Given the description of an element on the screen output the (x, y) to click on. 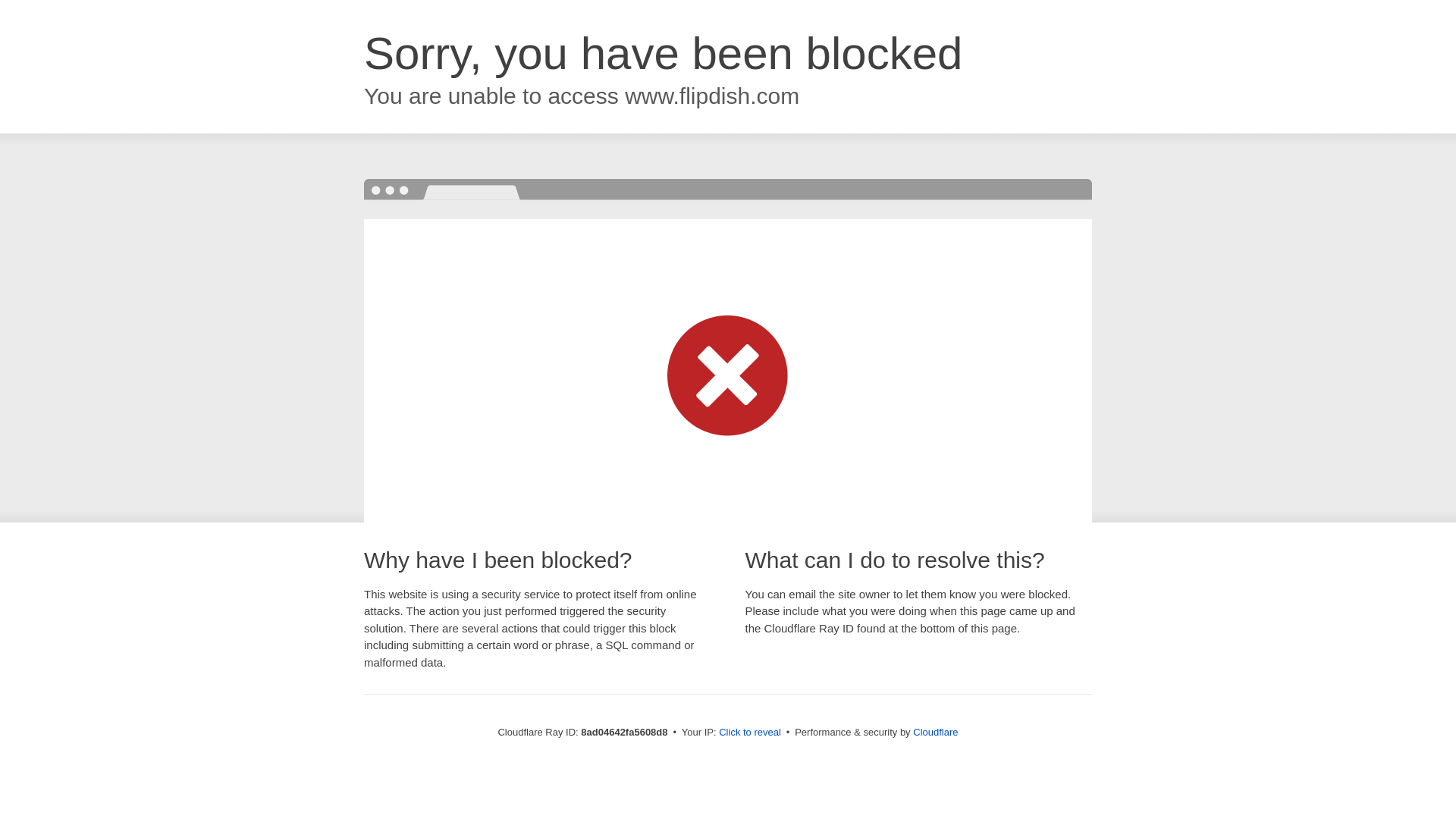
Cloudflare (935, 731)
Click to reveal (749, 732)
